Given the description of an element on the screen output the (x, y) to click on. 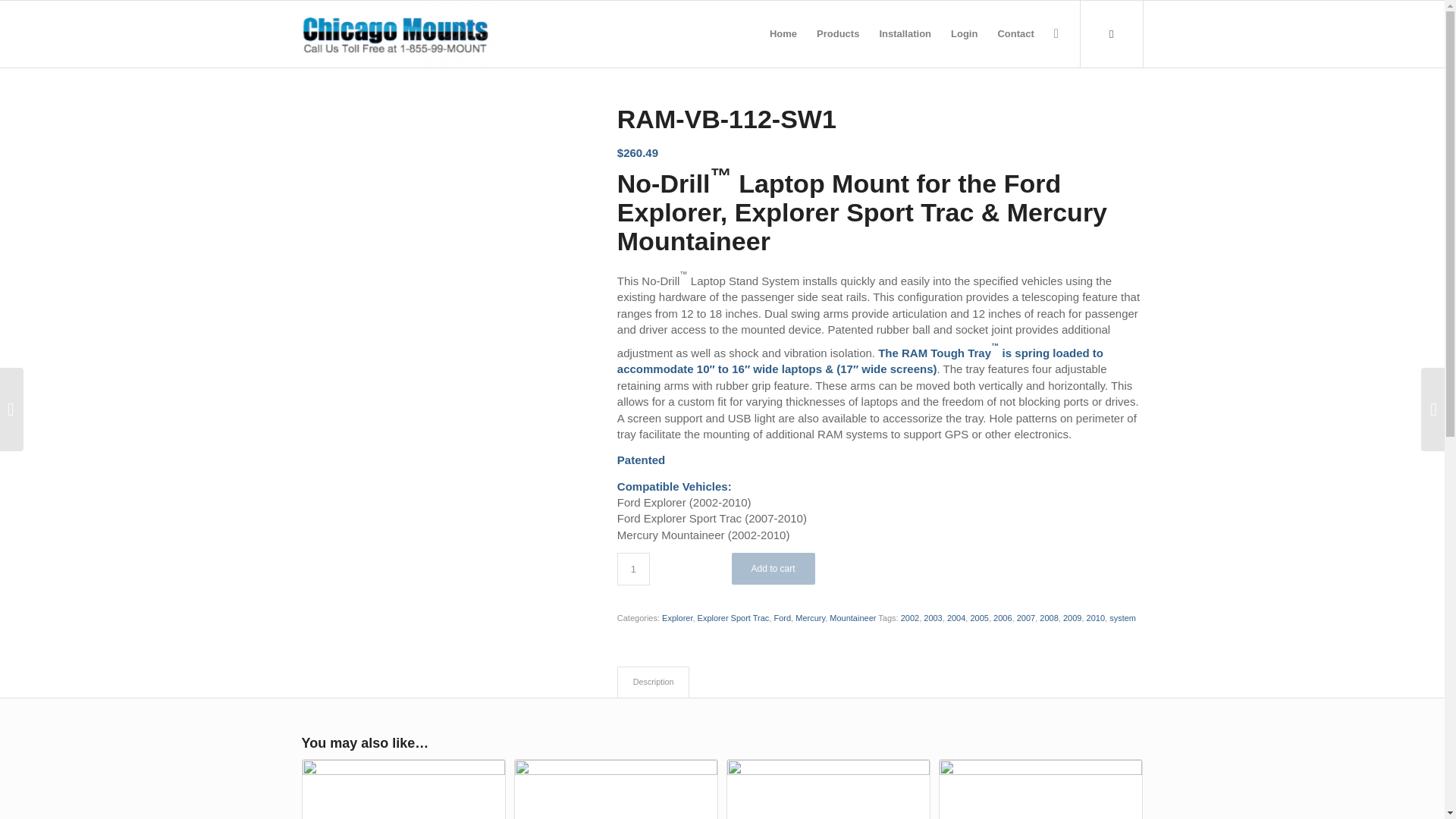
Explorer (677, 617)
2010 (1095, 617)
2004 (956, 617)
1 (633, 568)
Products (837, 33)
Mercury (809, 617)
2007 (1025, 617)
Add to cart (773, 568)
Explorer Sport Trac (733, 617)
2005 (978, 617)
